Given the description of an element on the screen output the (x, y) to click on. 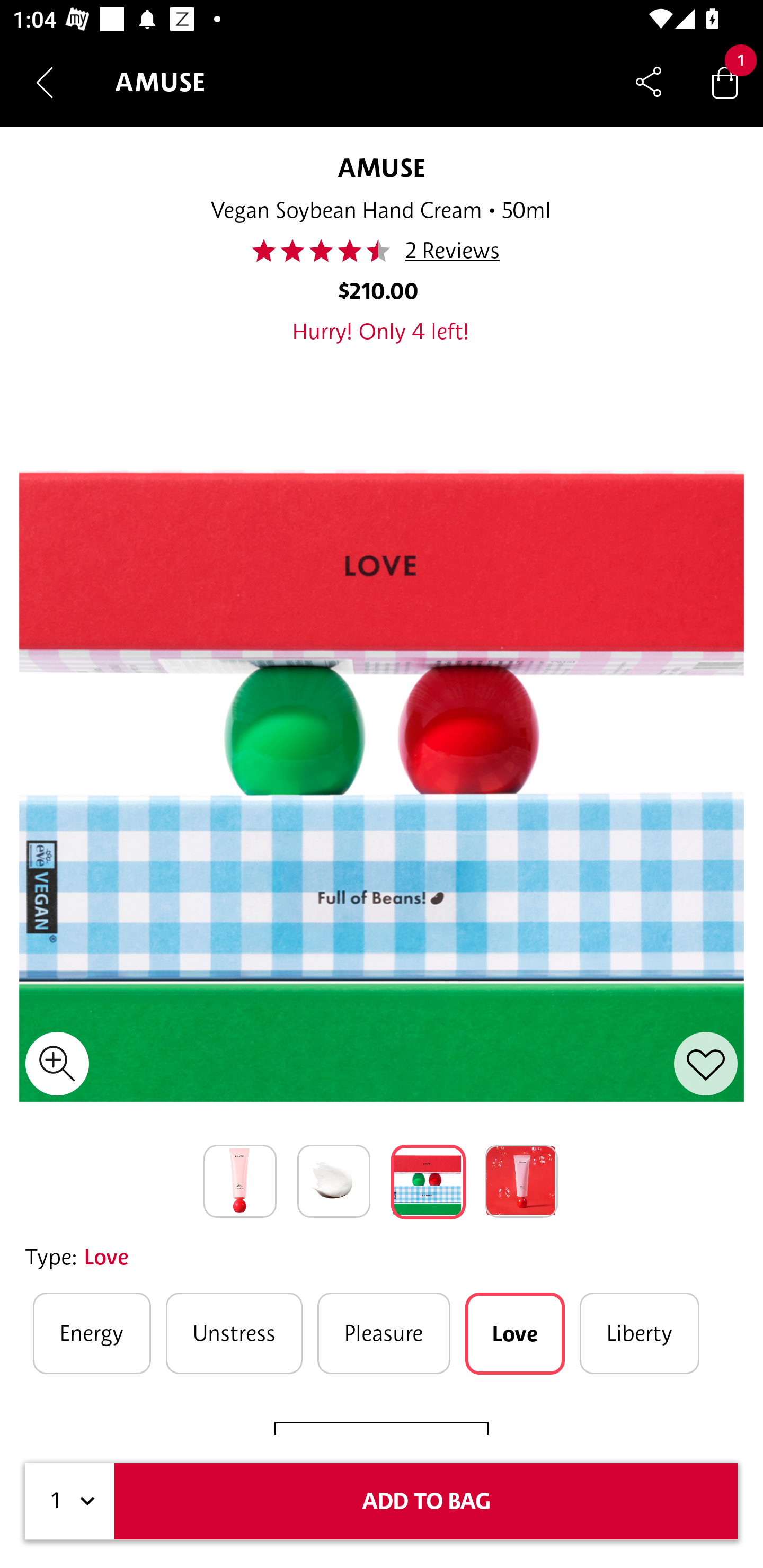
Navigate up (44, 82)
Share (648, 81)
Bag (724, 81)
AMUSE (380, 167)
45.0 2 Reviews (380, 250)
Energy (91, 1332)
Unstress (233, 1332)
Pleasure (383, 1332)
Love (514, 1333)
Liberty (639, 1332)
1 (69, 1500)
ADD TO BAG (425, 1500)
